Given the description of an element on the screen output the (x, y) to click on. 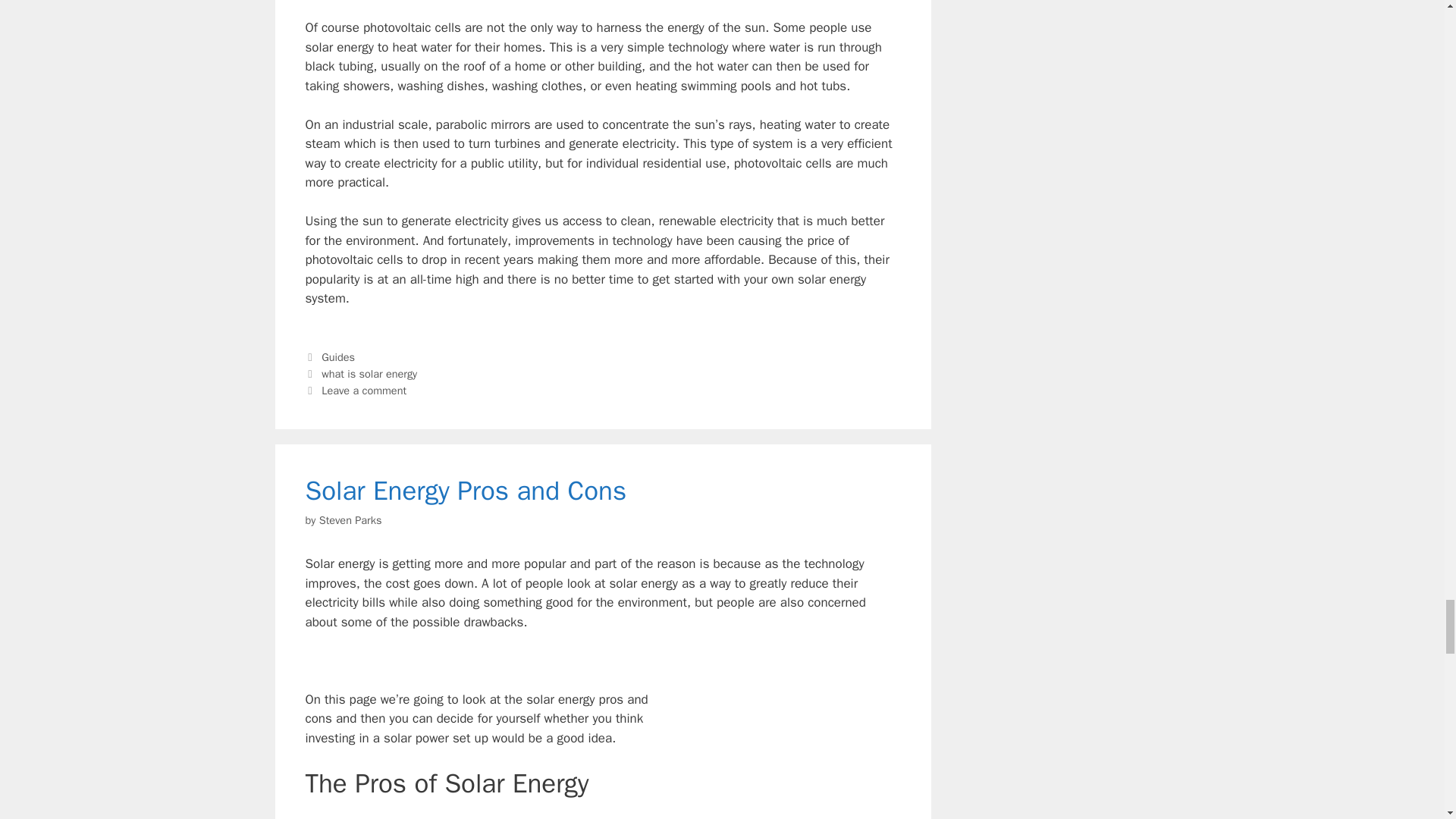
View all posts by Steven Parks (349, 520)
